Given the description of an element on the screen output the (x, y) to click on. 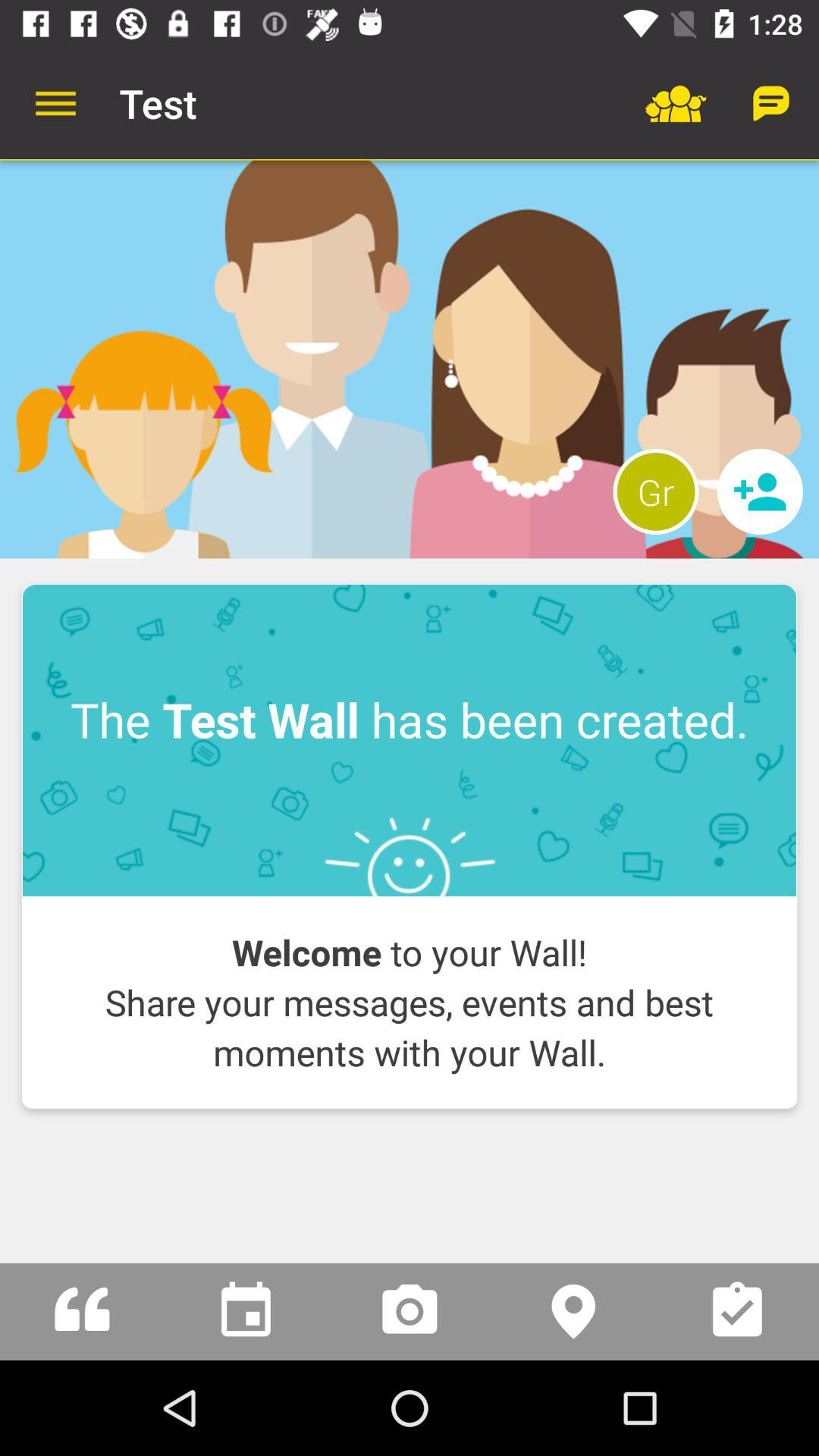
launch the the test wall item (409, 740)
